Given the description of an element on the screen output the (x, y) to click on. 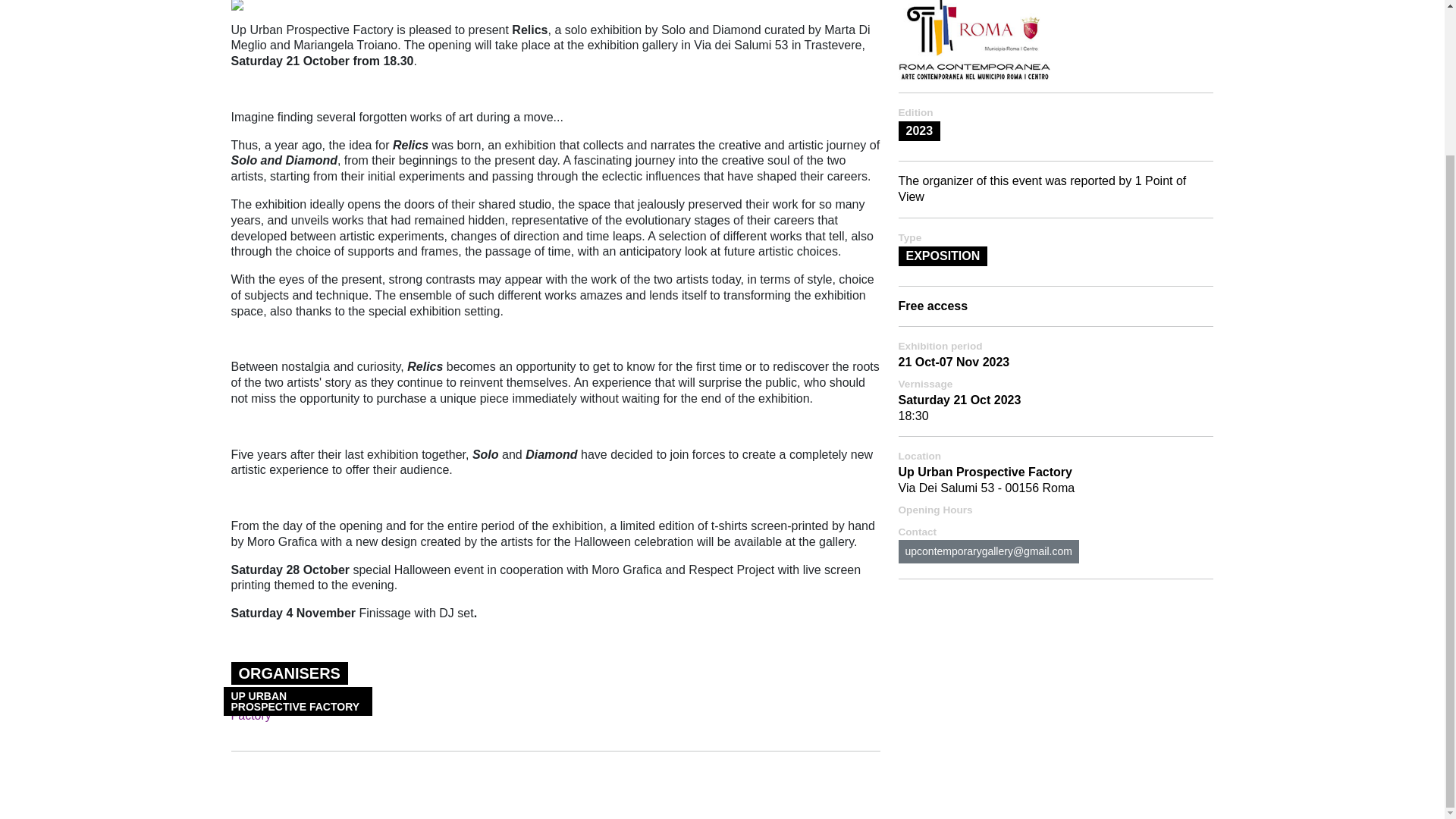
Up Urban Prospective Factory (304, 707)
UP URBAN PROSPECTIVE FACTORY (304, 707)
RELICS (236, 9)
